Given the description of an element on the screen output the (x, y) to click on. 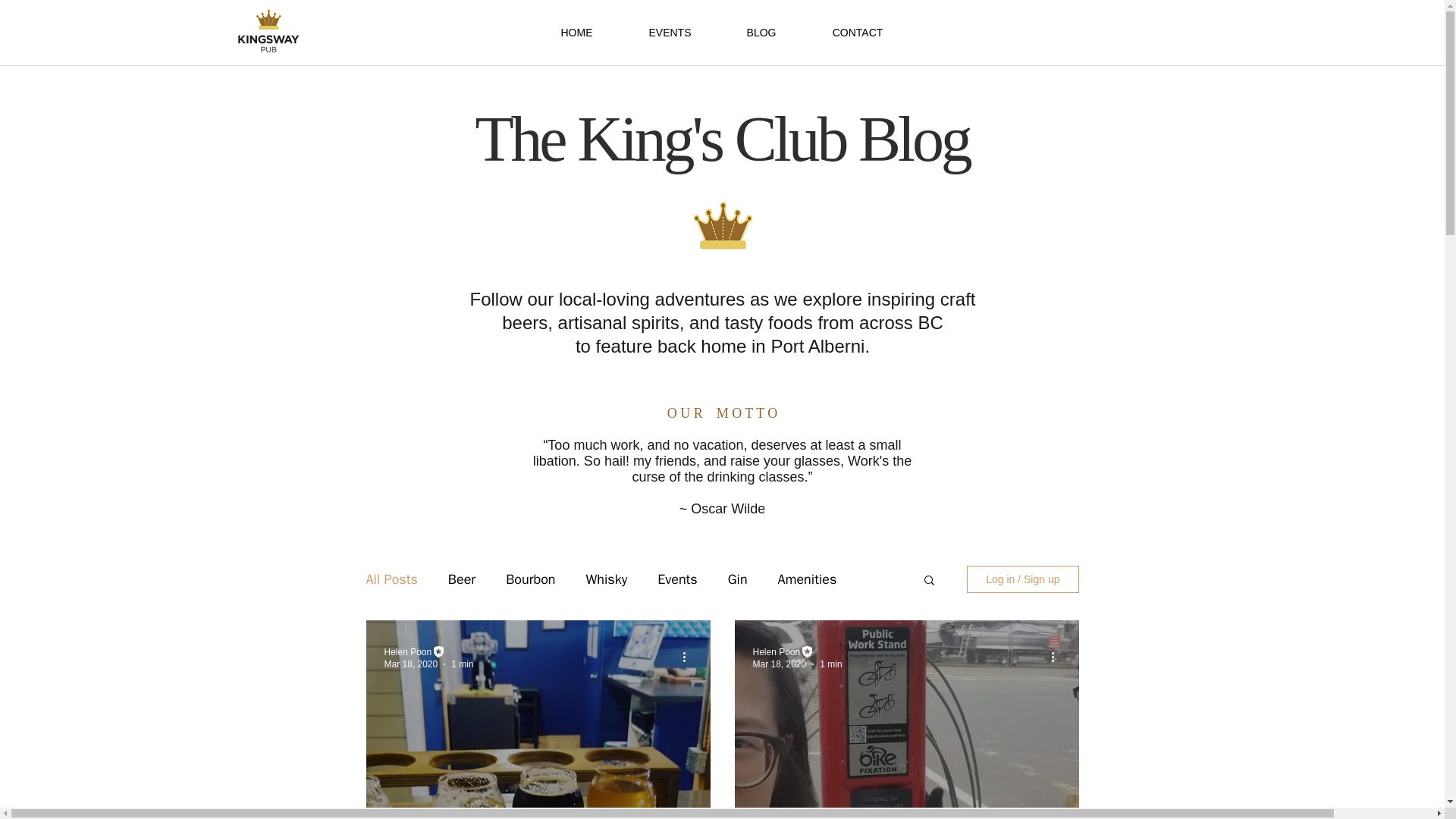
Amenities (807, 579)
Helen Poon (775, 652)
CONTACT (857, 31)
Events (677, 579)
1 min (462, 664)
BLOG (762, 31)
Gin (738, 579)
All Posts (390, 579)
Bourbon (529, 579)
EVENTS (670, 31)
Mar 18, 2020 (411, 664)
Whisky (606, 579)
HOME (576, 31)
Beer (462, 579)
Helen Poon (407, 652)
